Given the description of an element on the screen output the (x, y) to click on. 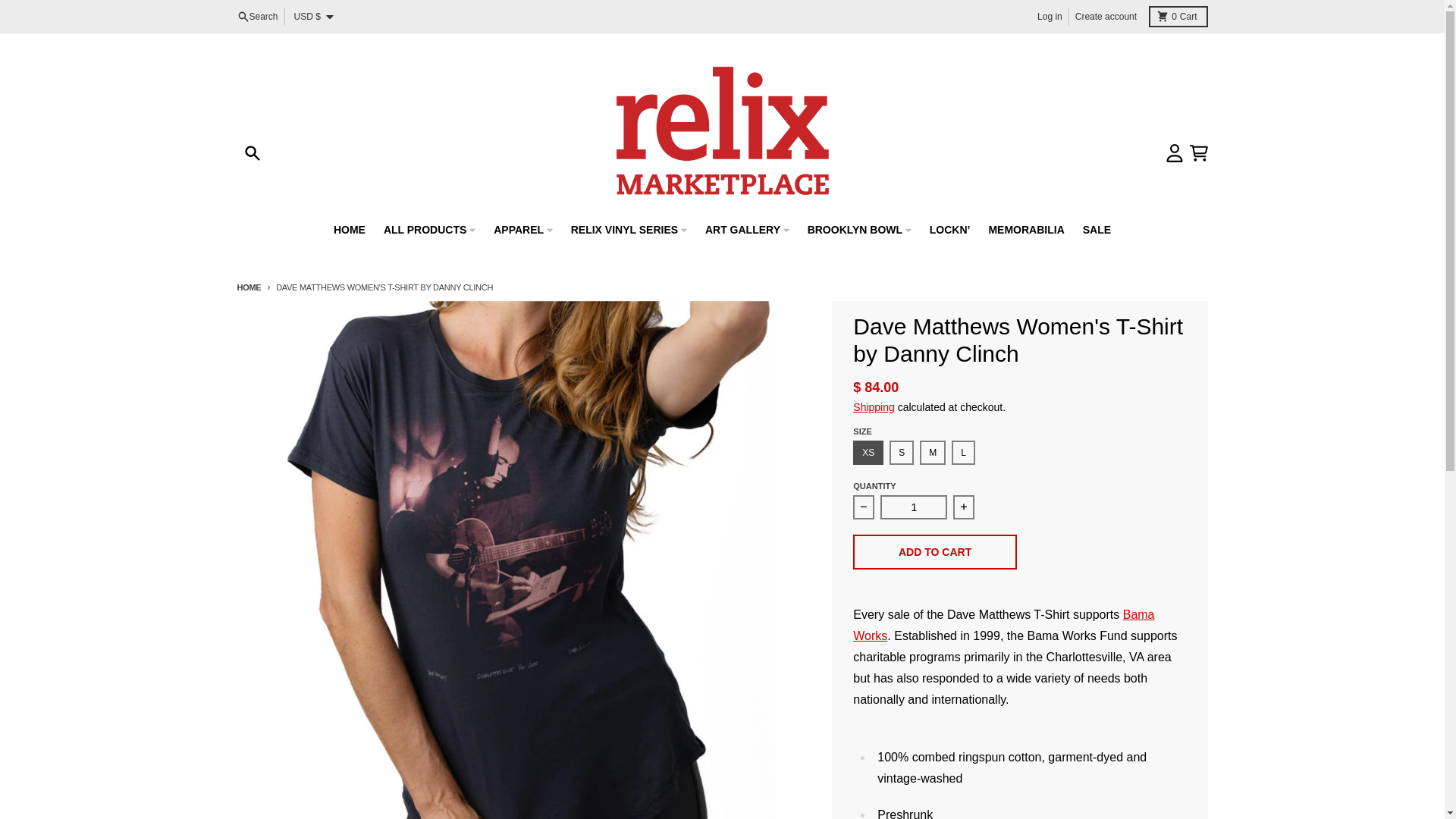
Create account (1177, 16)
Search (1105, 16)
1 (256, 16)
M (913, 506)
S (247, 286)
